Given the description of an element on the screen output the (x, y) to click on. 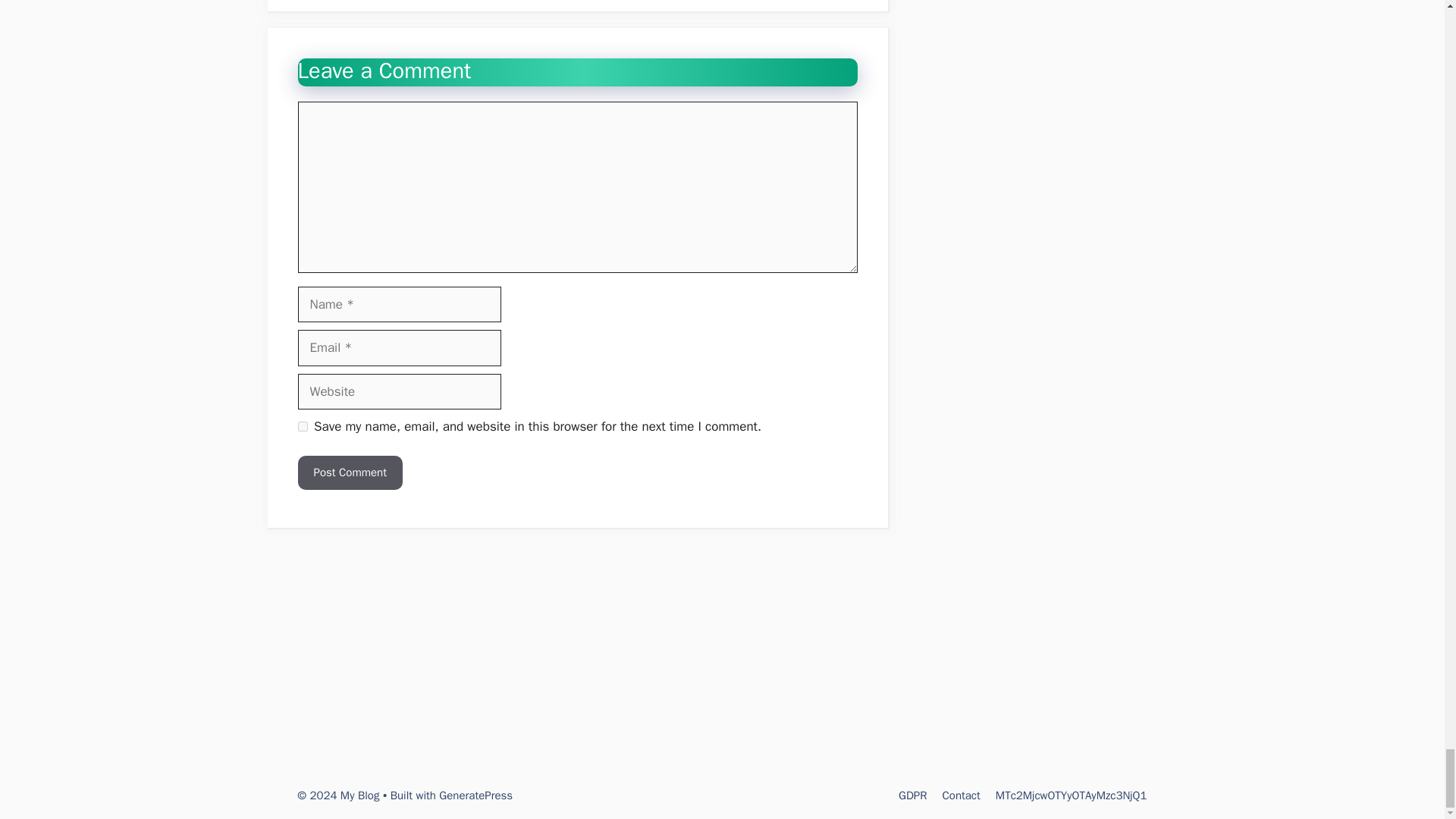
GeneratePress (475, 794)
Post Comment (349, 472)
yes (302, 426)
GDPR (912, 794)
Post Comment (349, 472)
Contact (960, 794)
MTc2MjcwOTYyOTAyMzc3NjQ1 (1071, 794)
